Given the description of an element on the screen output the (x, y) to click on. 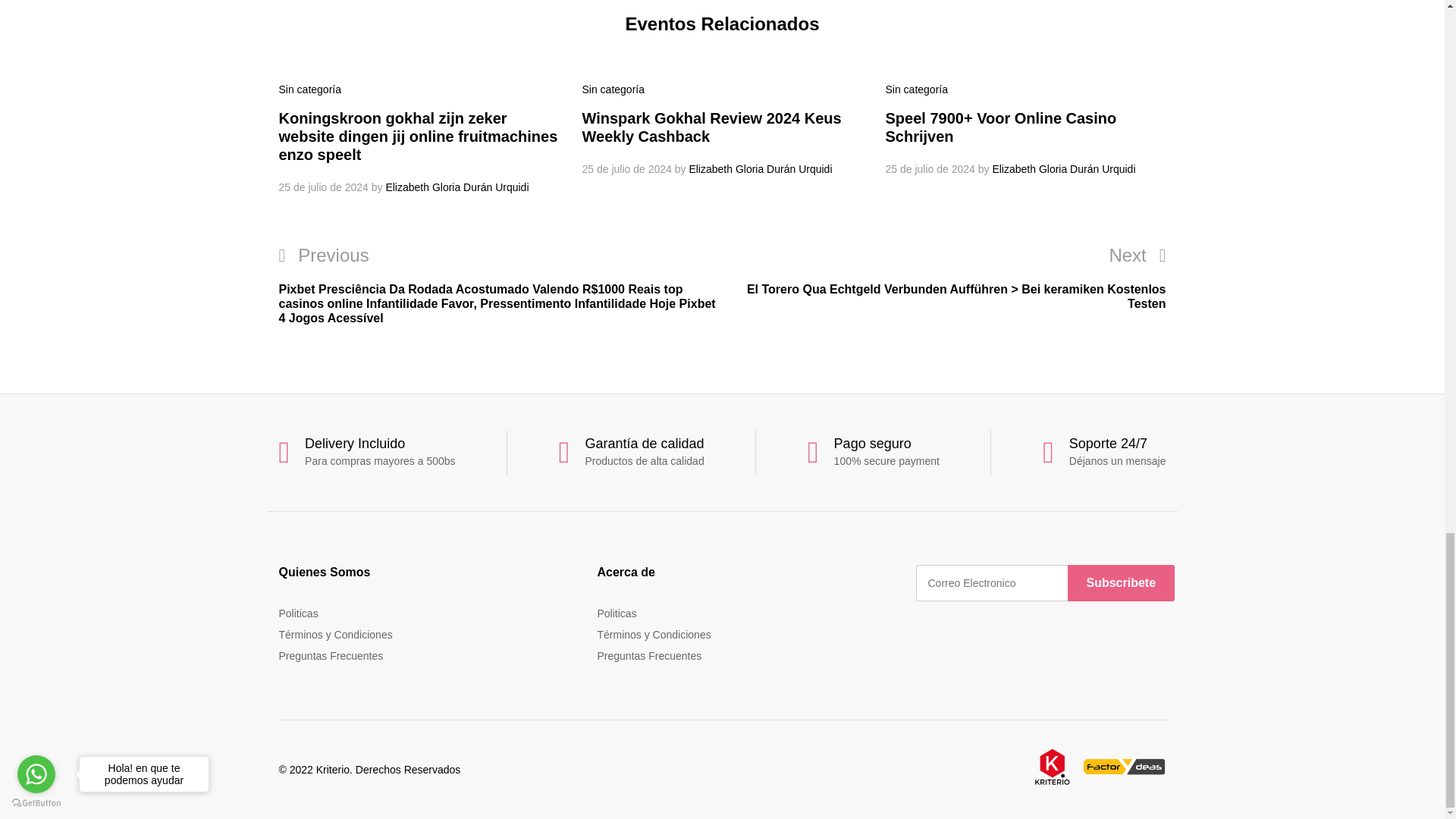
25 de julio de 2024 (323, 186)
Winspark Gokhal Review 2024 Keus Weekly Cashback (711, 126)
Politicas (298, 613)
25 de julio de 2024 (930, 168)
Subscribete (1120, 583)
25 de julio de 2024 (626, 168)
